Given the description of an element on the screen output the (x, y) to click on. 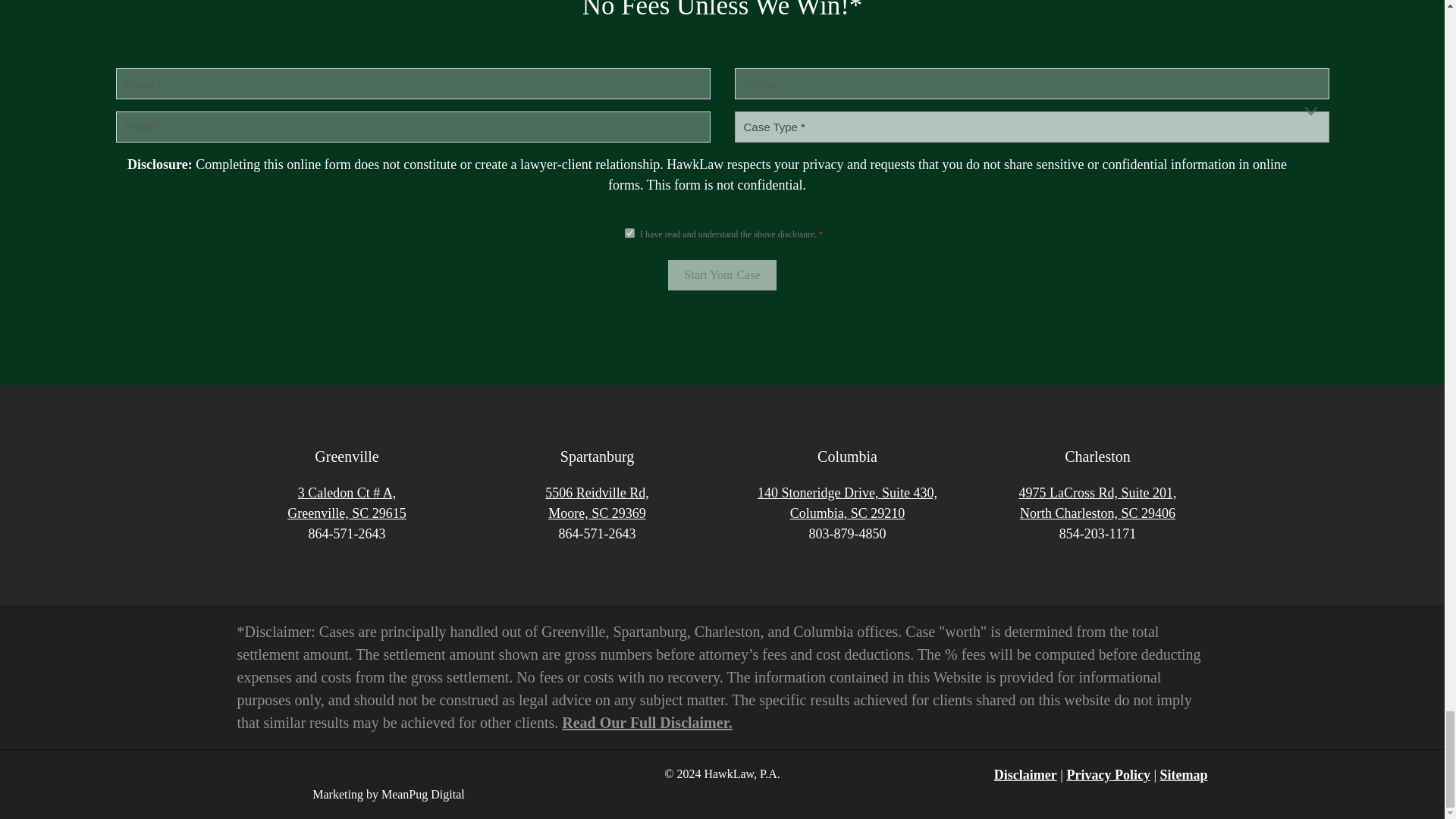
Start Your Case (722, 275)
